Given the description of an element on the screen output the (x, y) to click on. 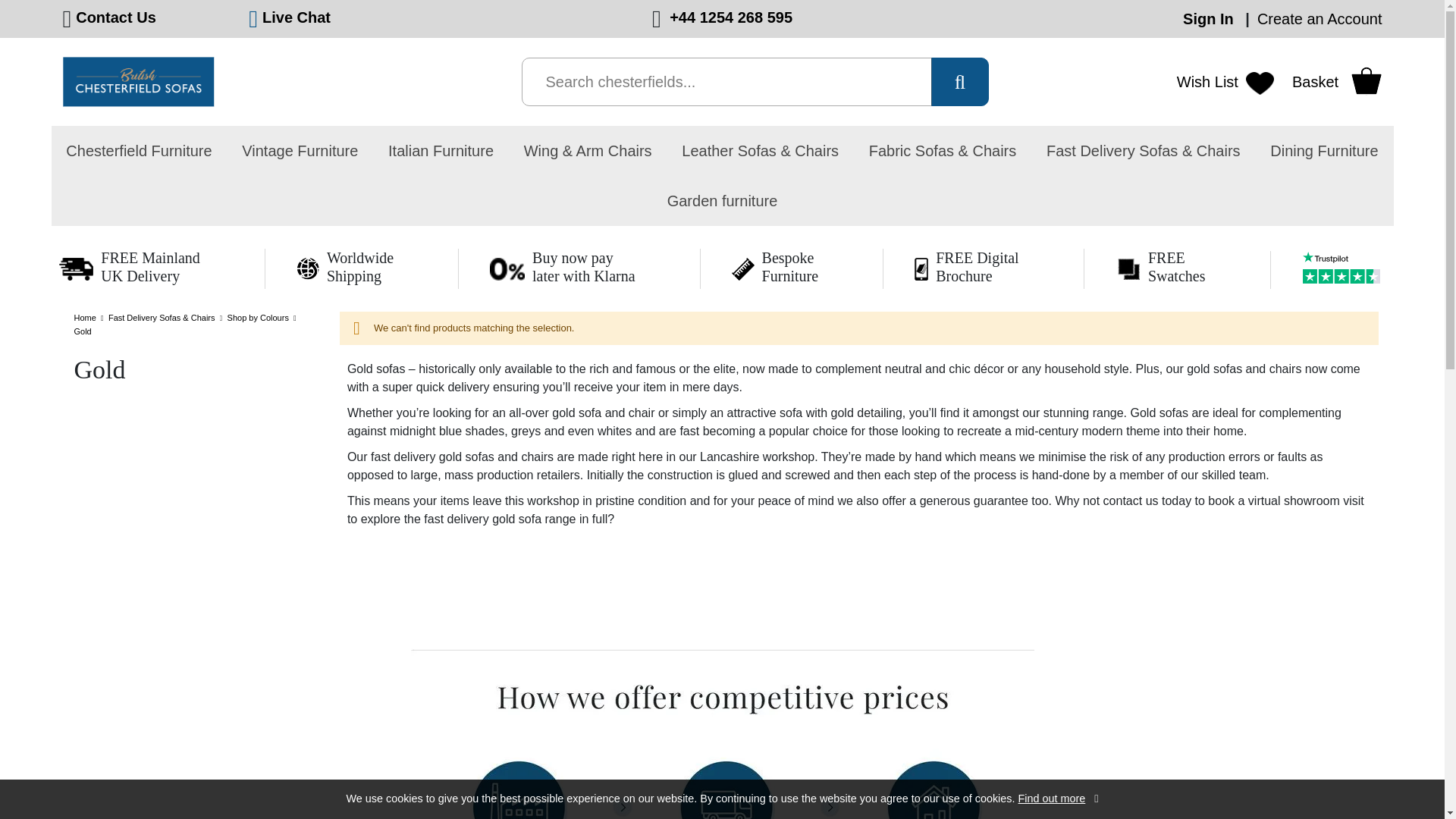
Customer reviews powered by Trustpilot (1343, 269)
Create an Account (1319, 18)
Search (959, 81)
Sign In (1209, 18)
Contact Us (115, 17)
Go to Home Page (86, 317)
Live Chat (296, 17)
Find out more (1051, 798)
Chat Request (296, 17)
Continue (1095, 799)
Chesterfield Furniture (138, 151)
